Given the description of an element on the screen output the (x, y) to click on. 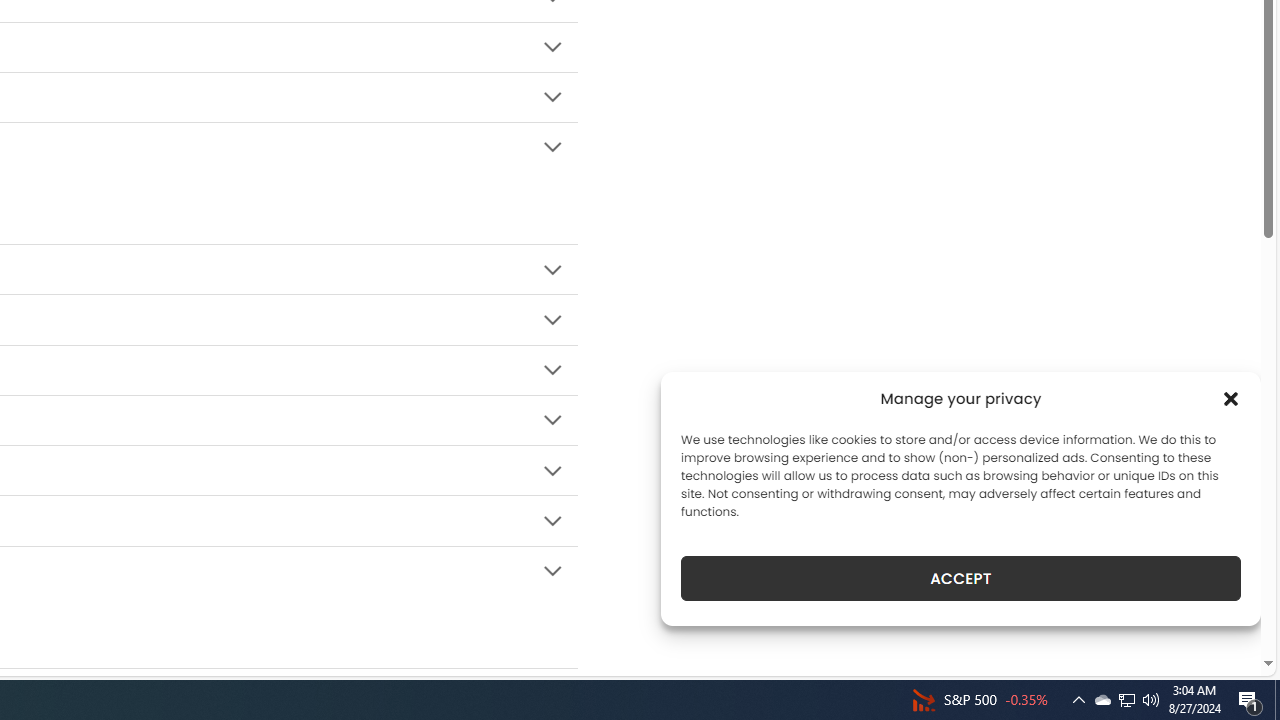
Class: cmplz-close (1231, 398)
ACCEPT (960, 578)
